Given the description of an element on the screen output the (x, y) to click on. 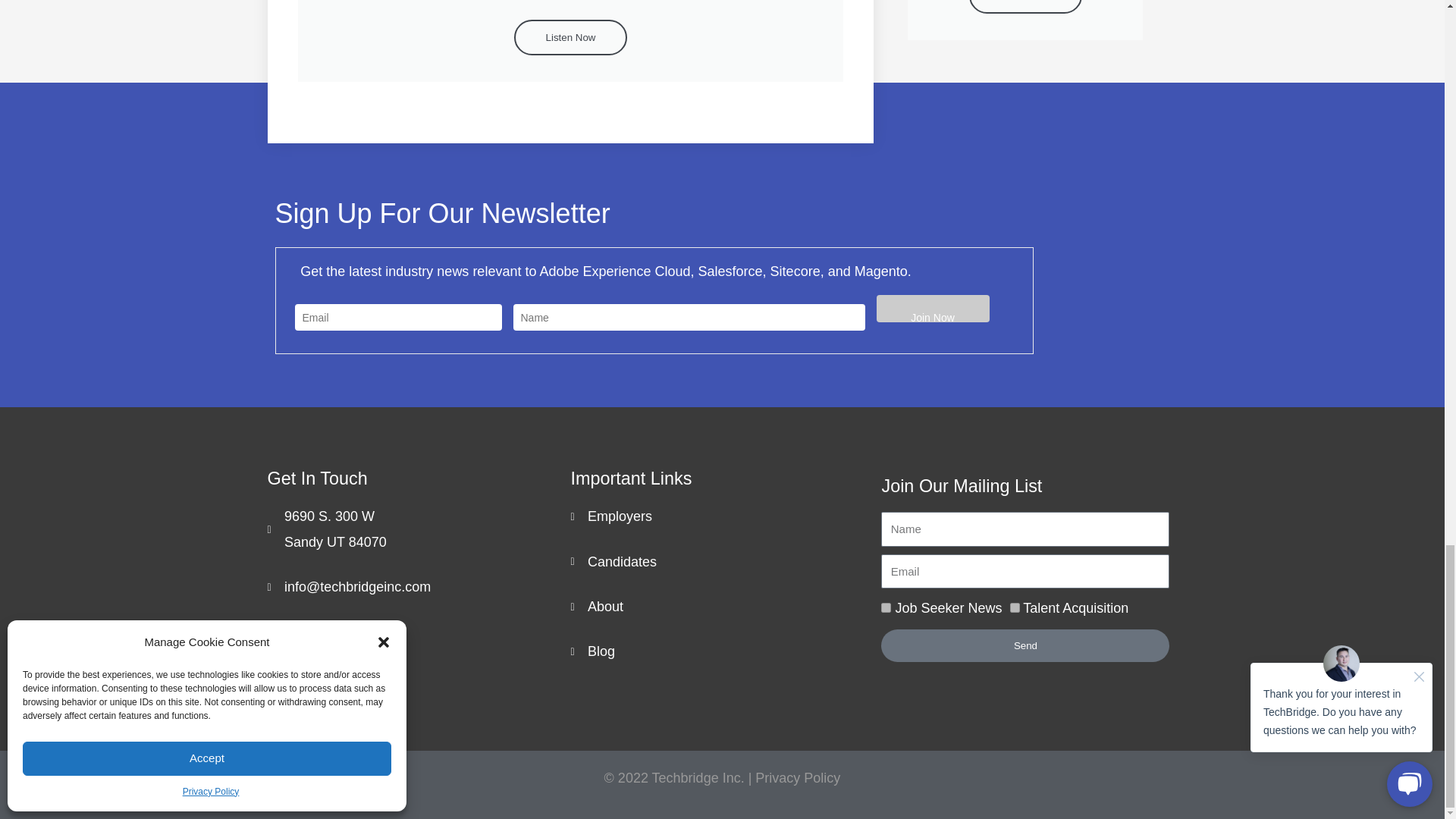
Join Now (933, 308)
Talent Acquisition (1015, 607)
Job Seeker News (885, 607)
